Given the description of an element on the screen output the (x, y) to click on. 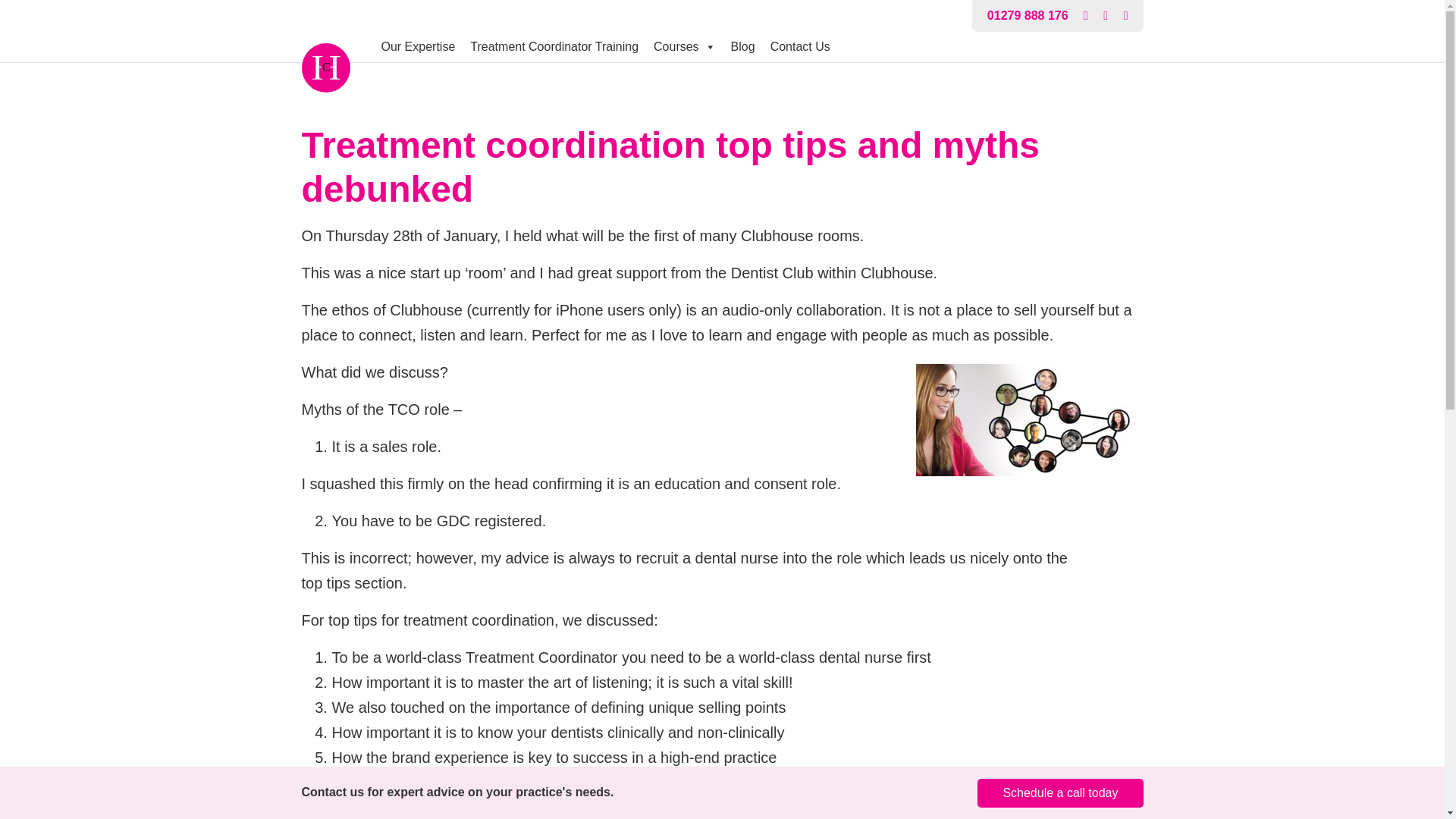
Schedule a call today (1059, 792)
Contact Us (800, 46)
Courses (684, 46)
01279 888 176 (1027, 15)
Treatment Coordinator Training (554, 46)
Our Expertise (417, 46)
Blog (742, 46)
